Given the description of an element on the screen output the (x, y) to click on. 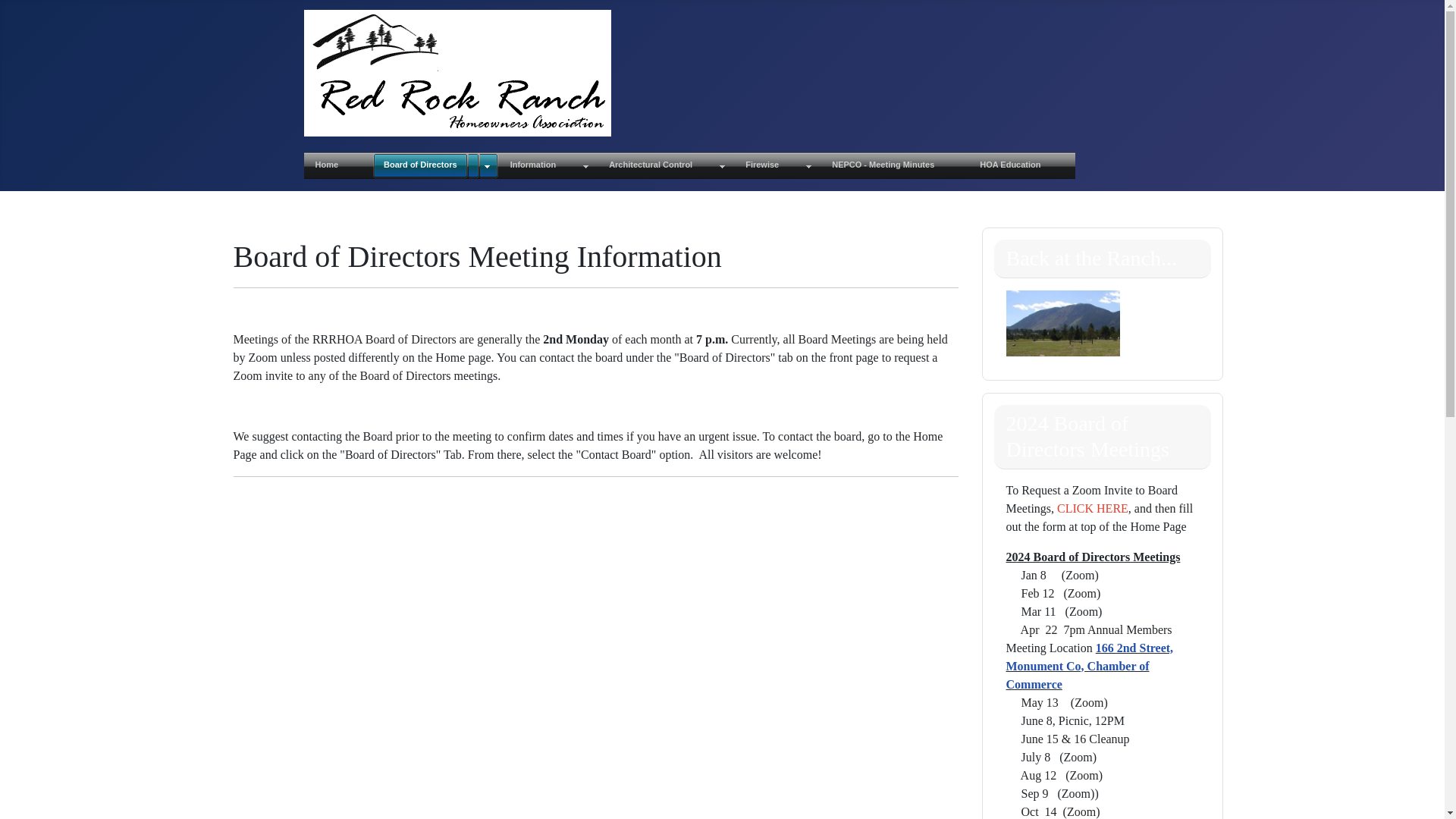
CLICK HERE (1092, 508)
HOA Education (1021, 165)
Home (337, 165)
166 2nd Street, Monument Co, Chamber of Commerce (1089, 666)
Firewise (777, 165)
Information (548, 165)
Request Zoom Invite (1092, 508)
Board of Directors (435, 165)
NEPCO - Meeting Minutes (894, 165)
Architectural Control (664, 165)
